Given the description of an element on the screen output the (x, y) to click on. 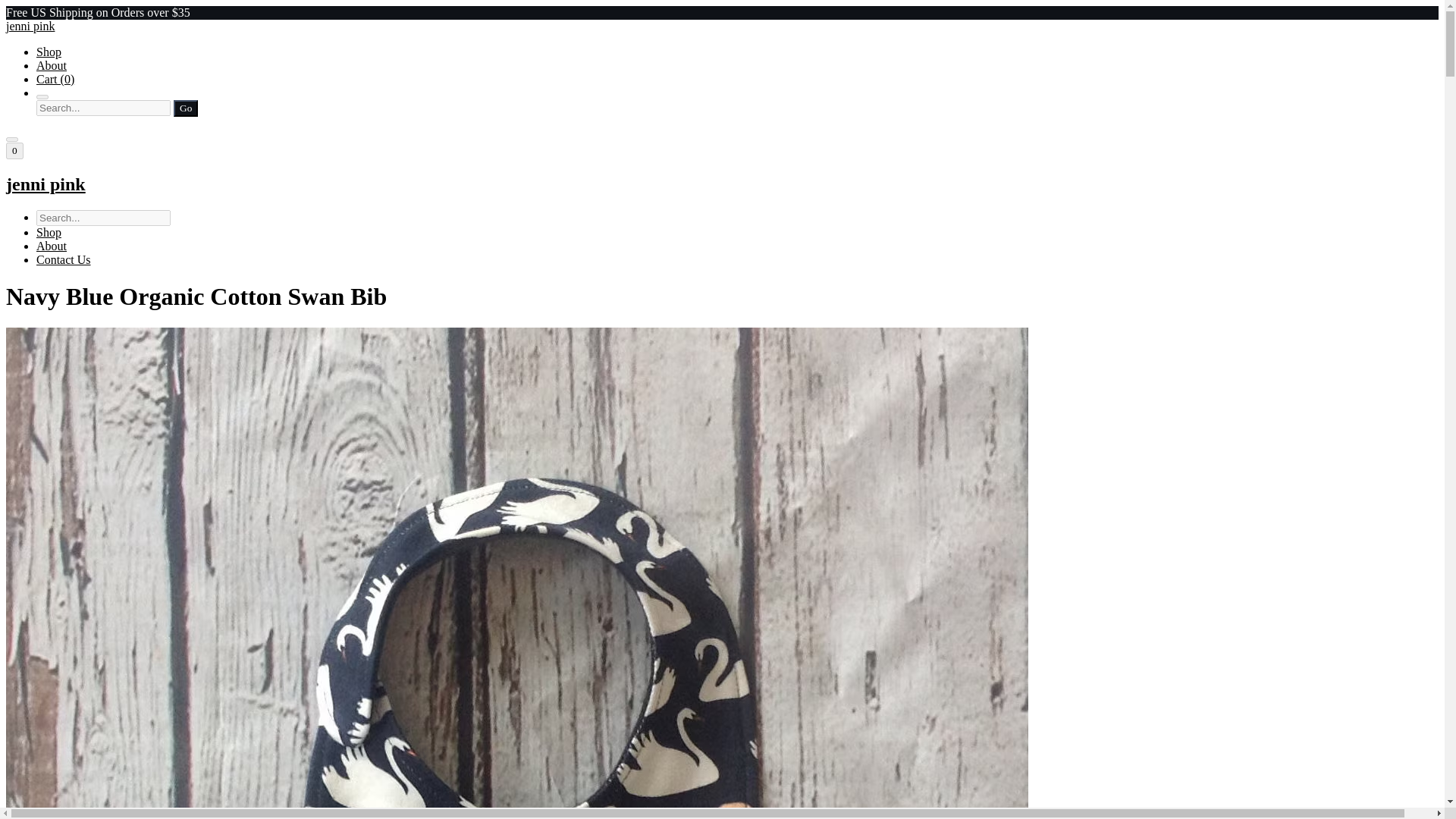
Go (185, 108)
Contact Us (63, 259)
Shop (48, 51)
About (51, 245)
About (51, 65)
Go (185, 108)
0 (14, 150)
Shop (48, 232)
jenni pink (721, 184)
